Given the description of an element on the screen output the (x, y) to click on. 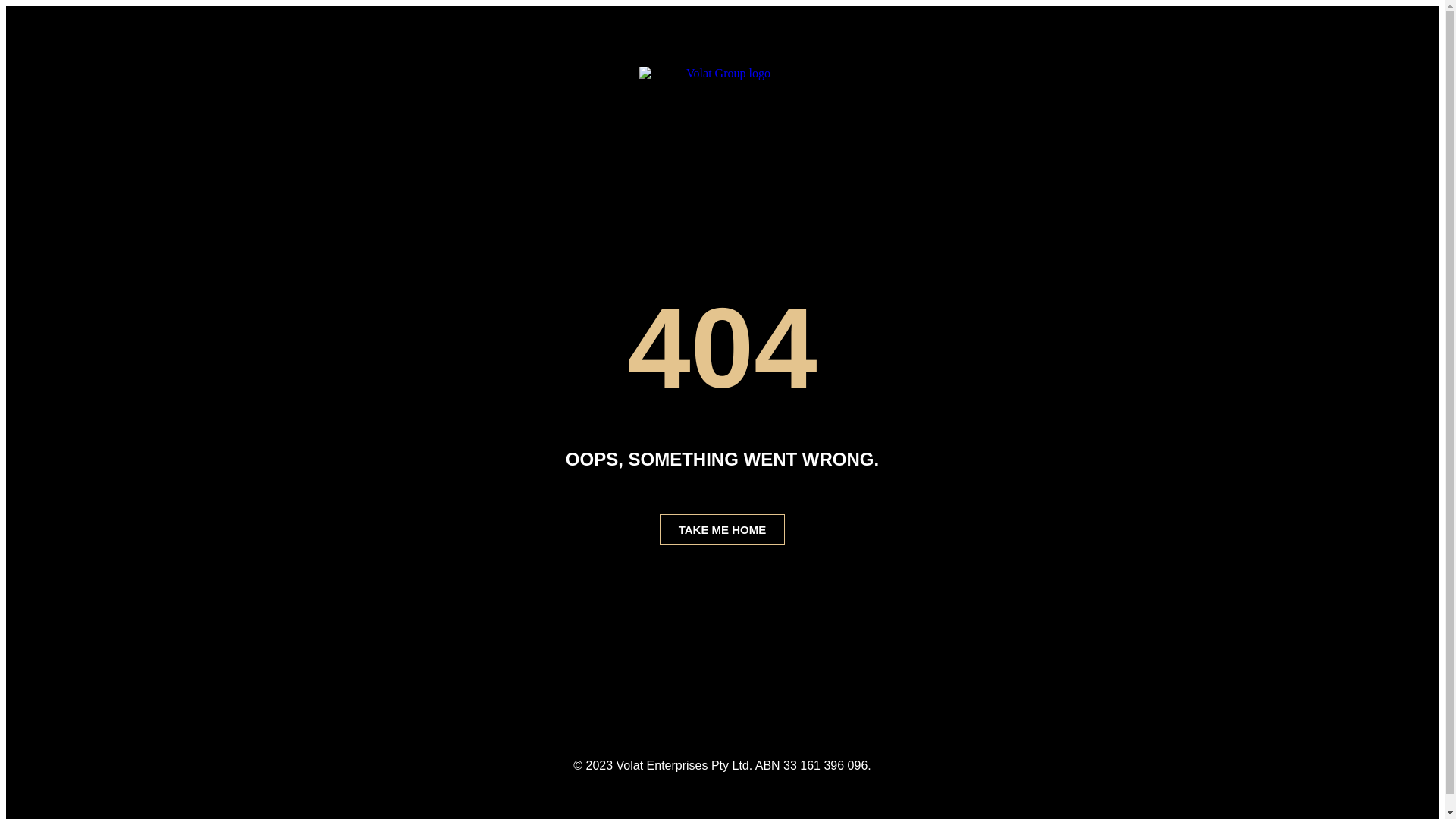
TAKE ME HOME Element type: text (722, 529)
